Given the description of an element on the screen output the (x, y) to click on. 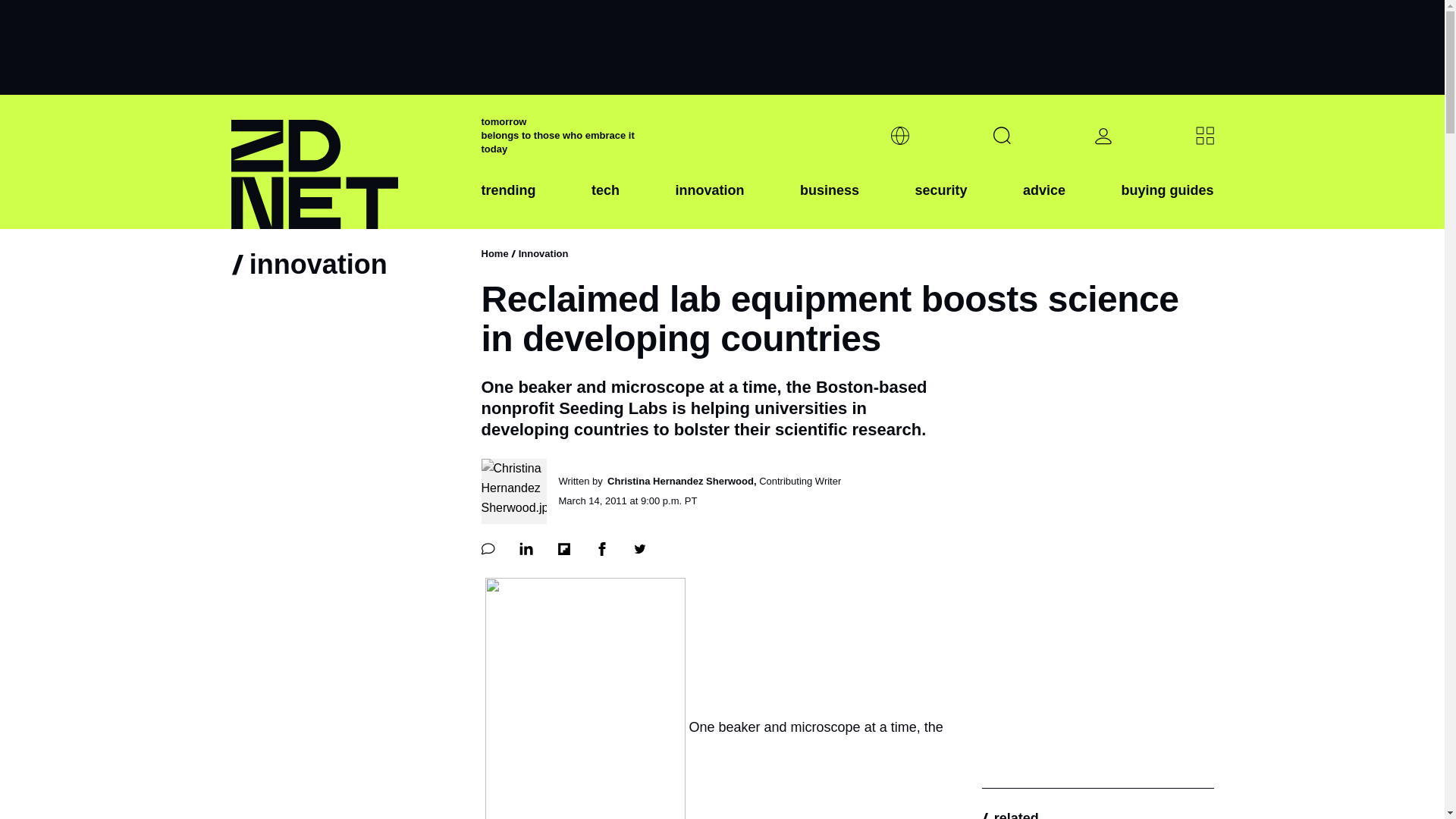
trending (507, 202)
ZDNET (346, 162)
ninadudnik (584, 698)
tech (605, 202)
